Given the description of an element on the screen output the (x, y) to click on. 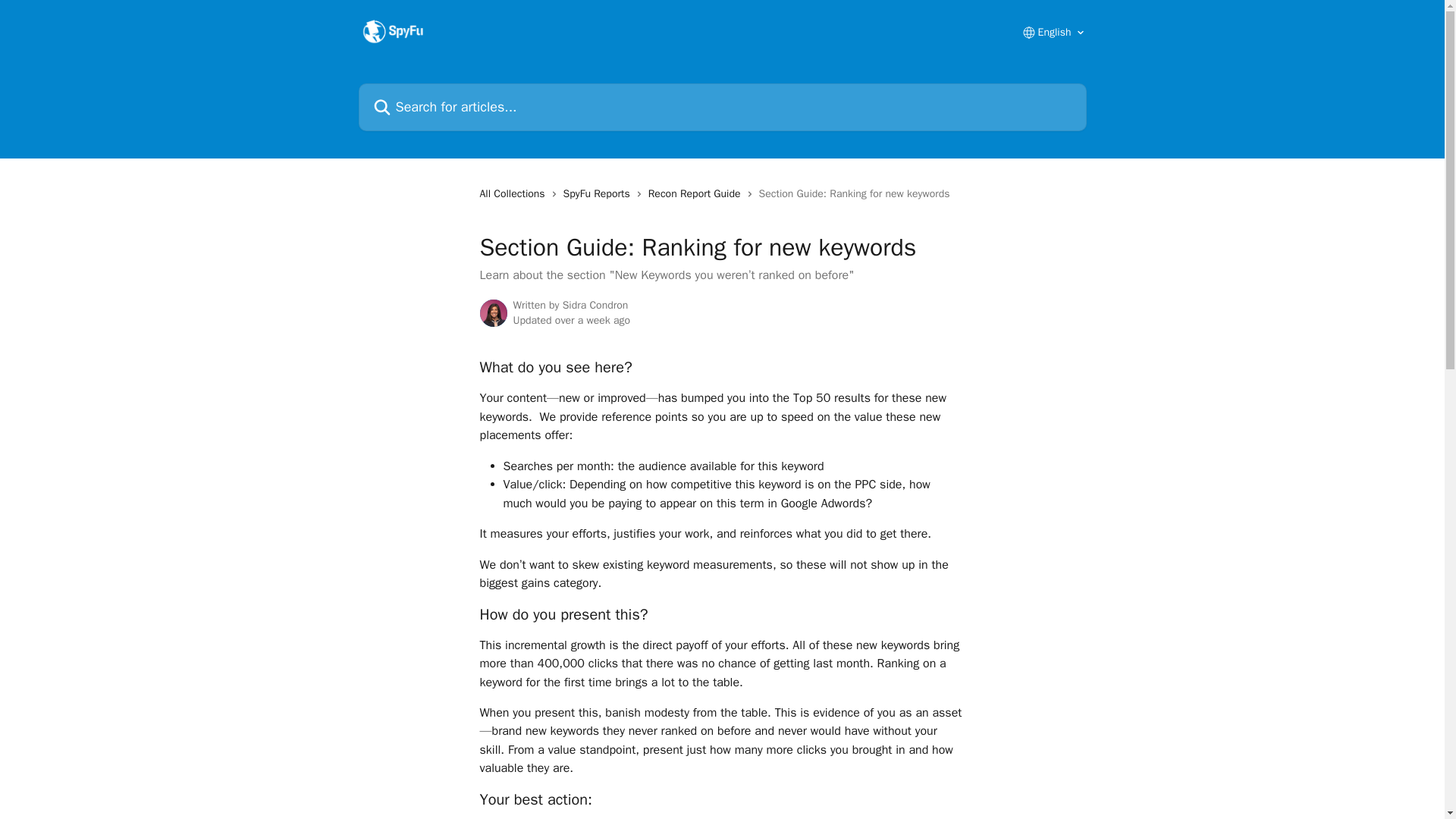
Recon Report Guide (696, 193)
All Collections (514, 193)
SpyFu Reports (599, 193)
